Given the description of an element on the screen output the (x, y) to click on. 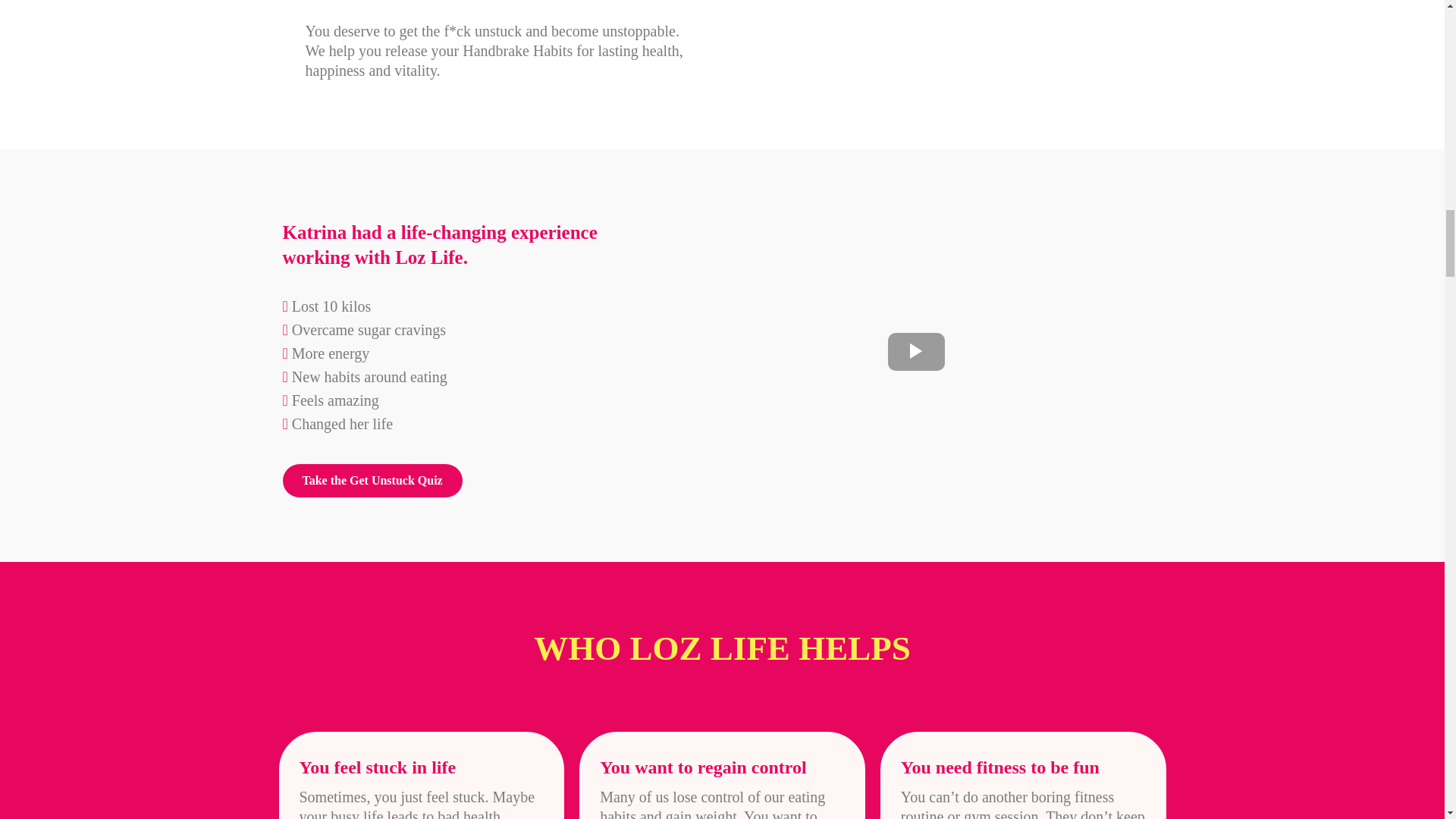
Take the Get Unstuck Quiz (371, 480)
